Given the description of an element on the screen output the (x, y) to click on. 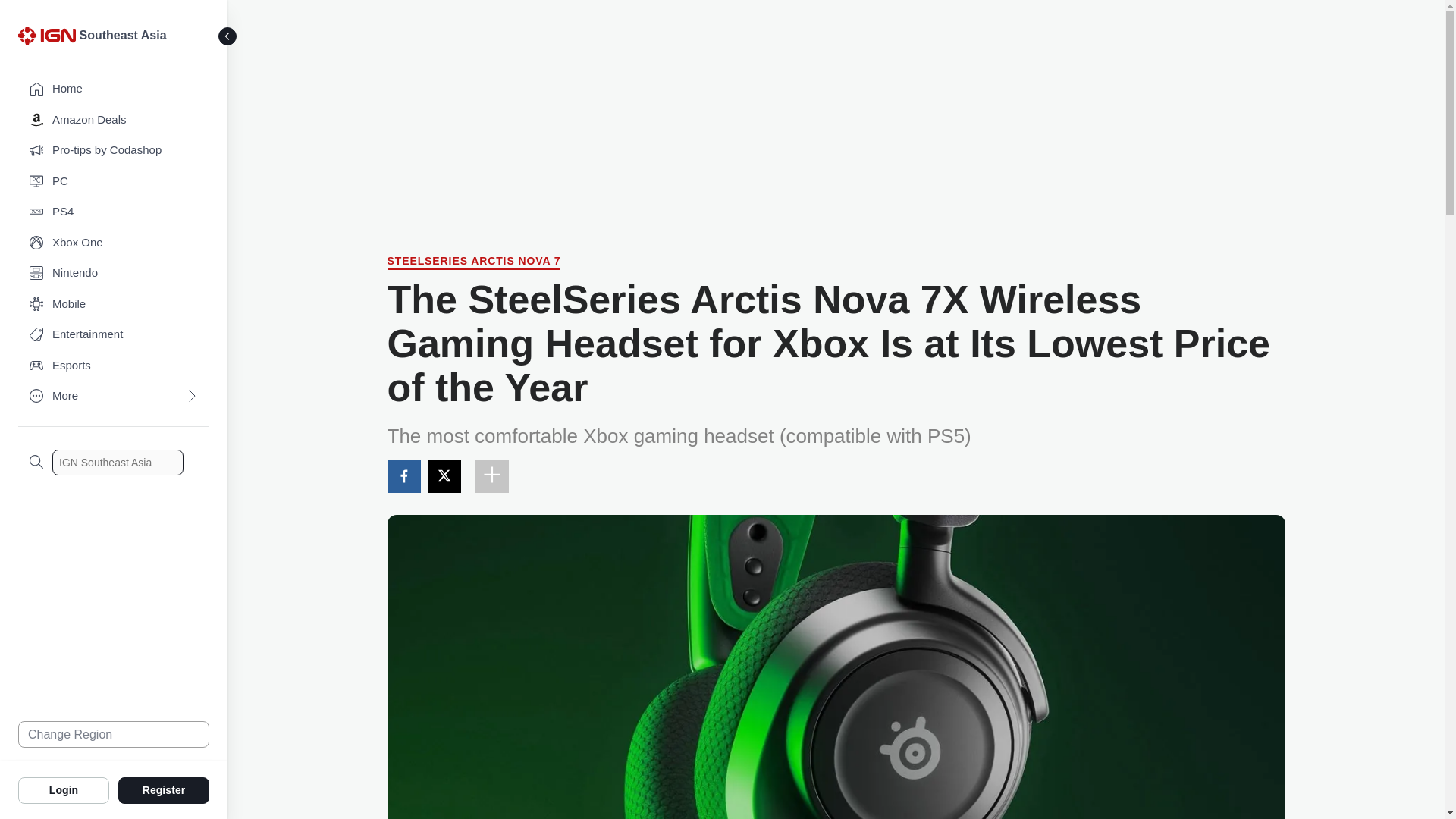
Mobile (113, 304)
Nintendo (113, 273)
Login (63, 789)
Xbox One (113, 242)
PS4 (113, 211)
SteelSeries Arctis Nova 7 (473, 262)
Register (163, 789)
Toggle Sidebar (226, 36)
Home (113, 89)
IGN Logo (48, 39)
